Given the description of an element on the screen output the (x, y) to click on. 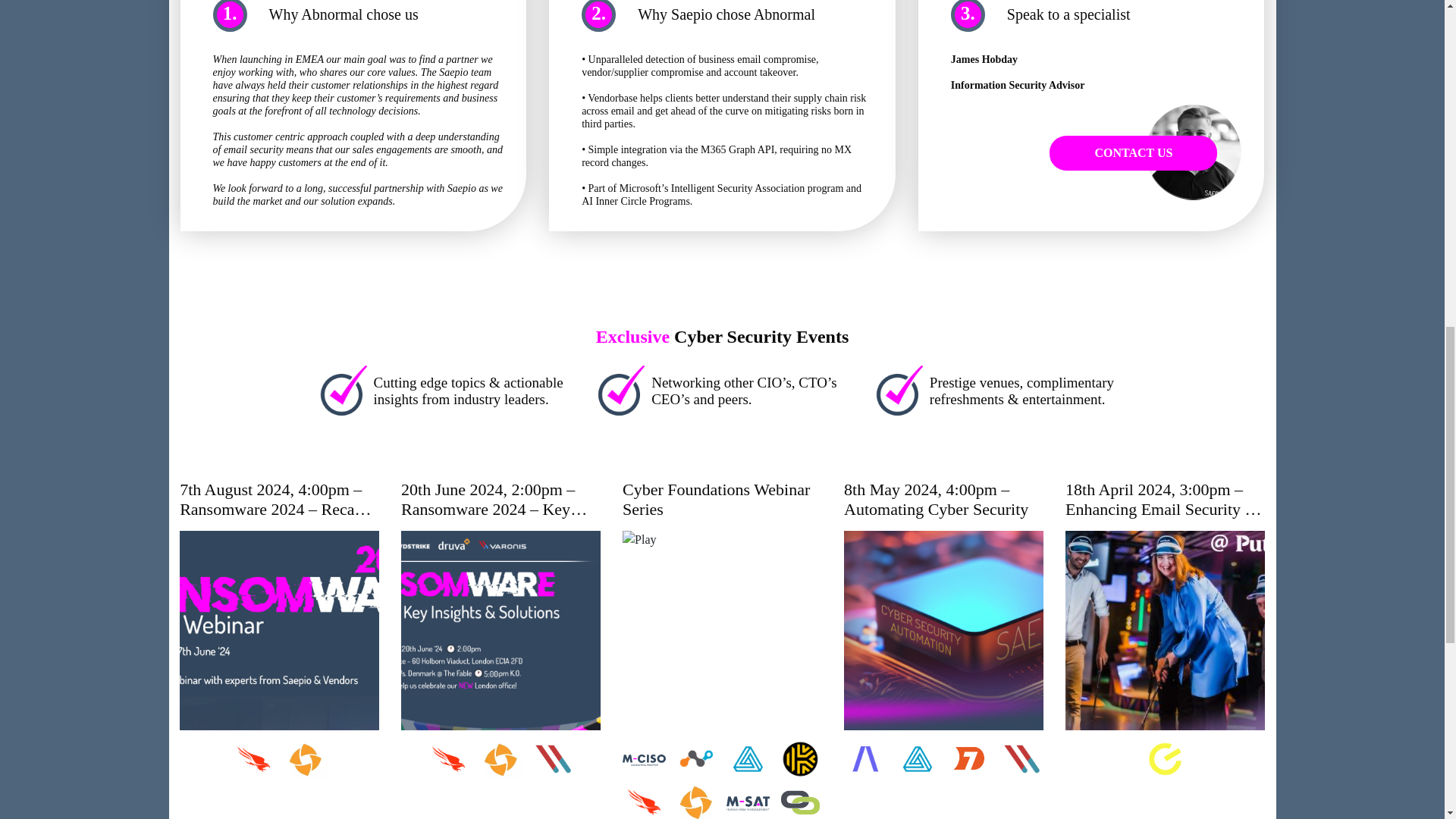
CONTACT US (1133, 152)
